Given the description of an element on the screen output the (x, y) to click on. 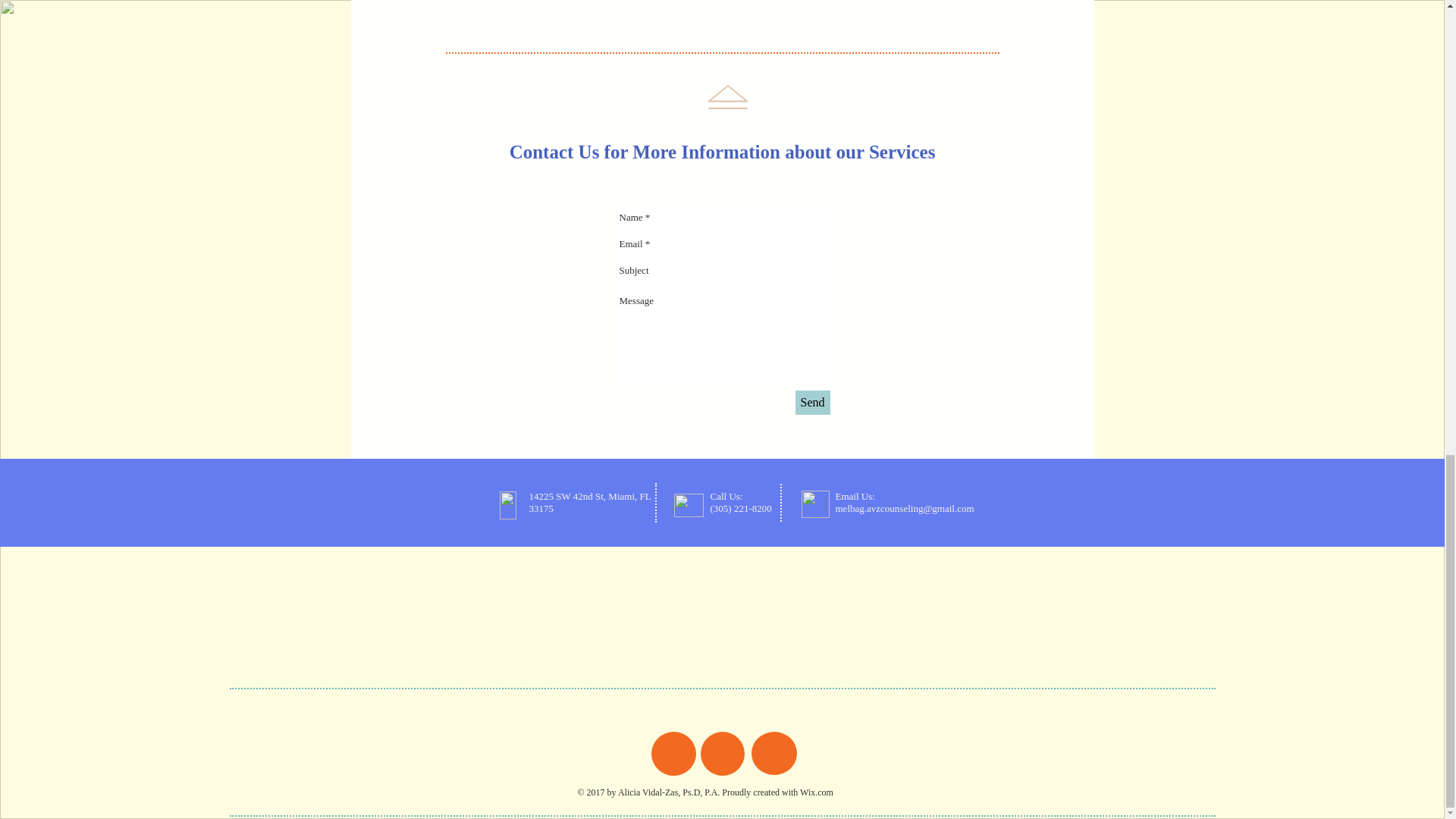
Send (811, 402)
Wix.com (815, 792)
